Given the description of an element on the screen output the (x, y) to click on. 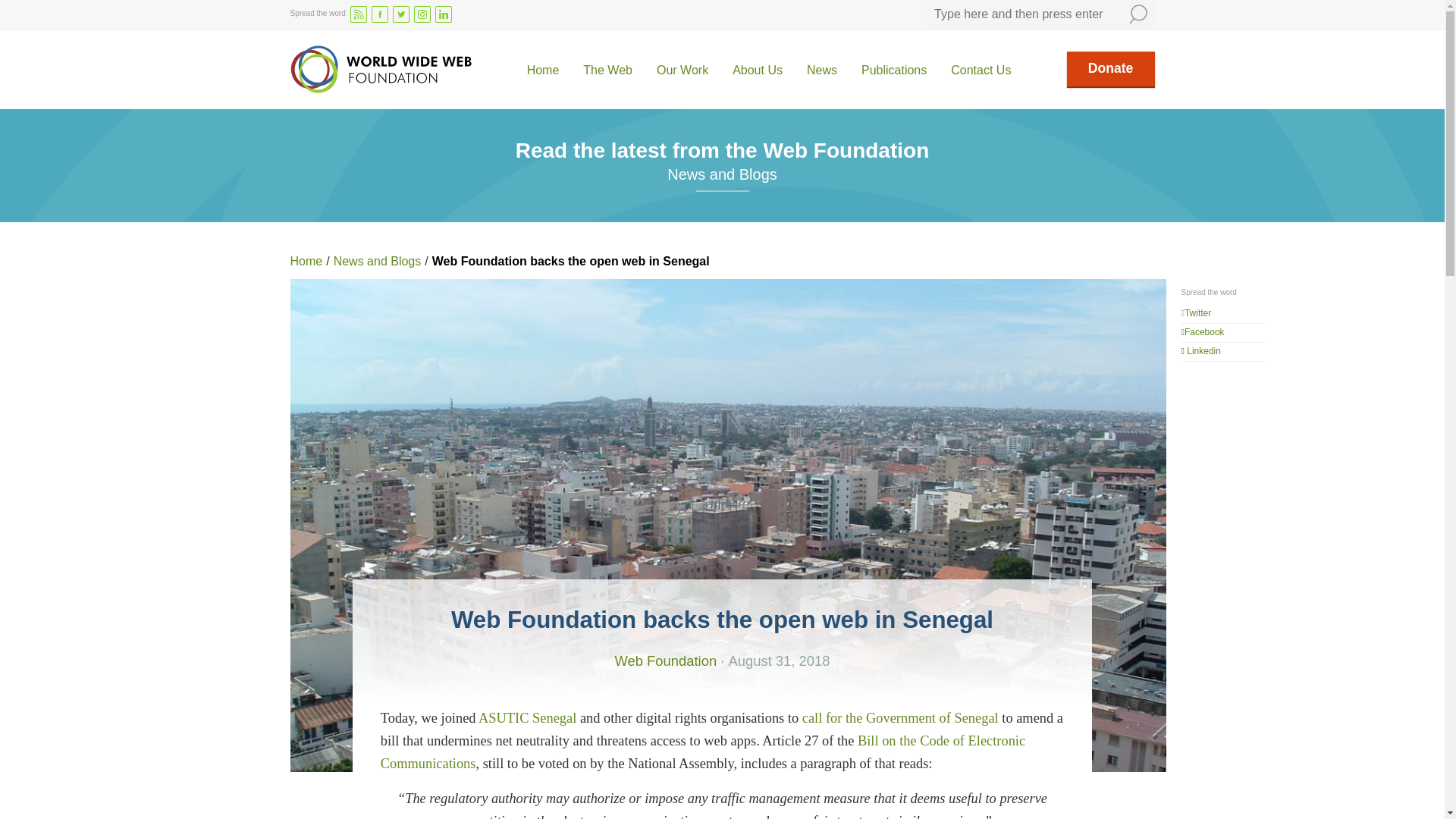
Home (543, 70)
linkedin (443, 13)
World Wide Web Foundation (379, 69)
Facebook (1204, 331)
Publications (893, 70)
The Web (607, 70)
News and Blogs (377, 260)
Twitter (1198, 312)
RSS (358, 13)
ASUTIC Senegal (527, 717)
twitter (401, 13)
call for the Government of Senegal (900, 717)
Linkedin (1203, 350)
Our Work (681, 70)
News (821, 70)
